Given the description of an element on the screen output the (x, y) to click on. 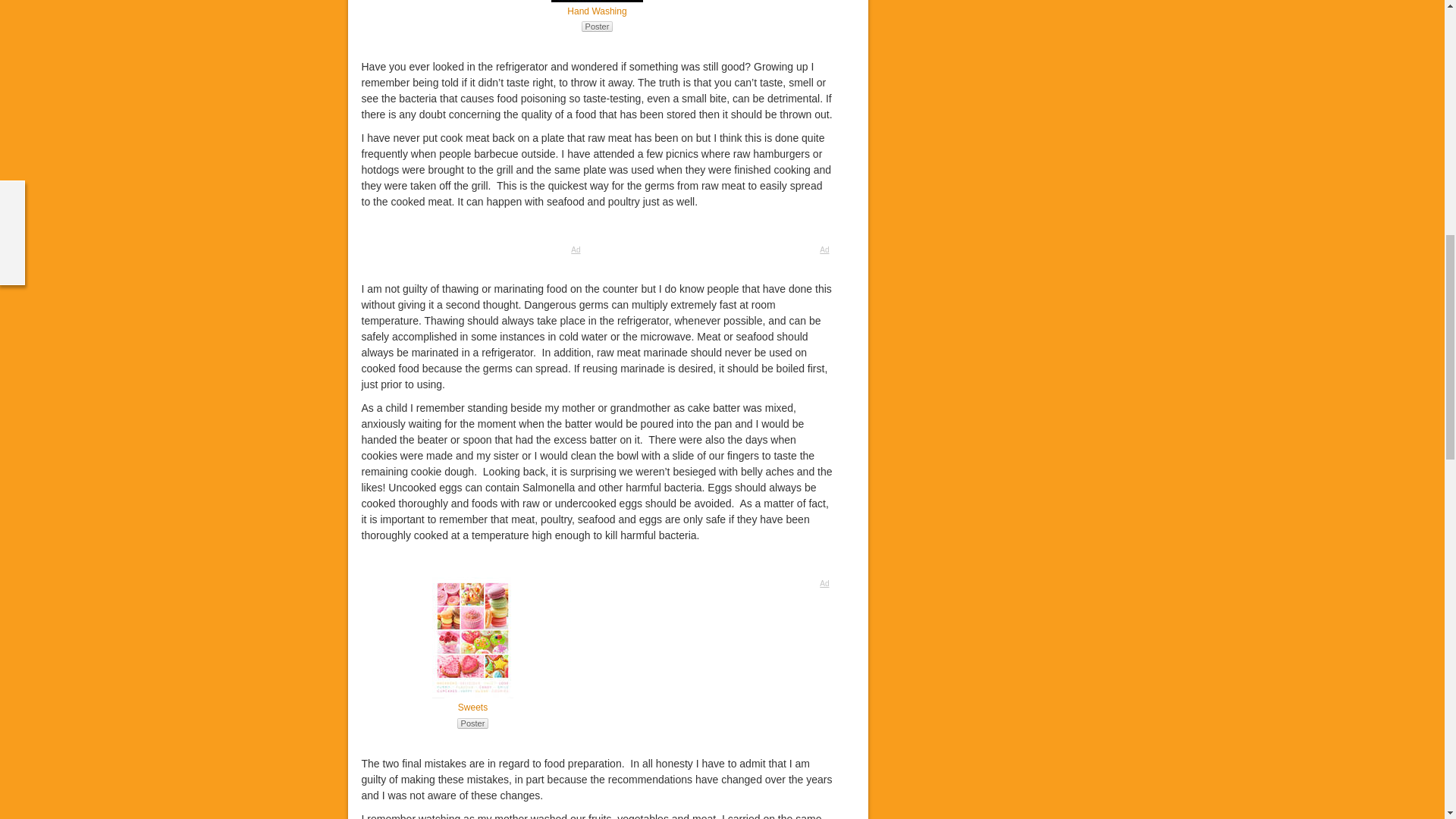
Hand Washing (596, 10)
Ad (721, 583)
Ad (721, 249)
Poster (596, 26)
Poster (473, 723)
Sweets (472, 706)
Ad (472, 249)
